Given the description of an element on the screen output the (x, y) to click on. 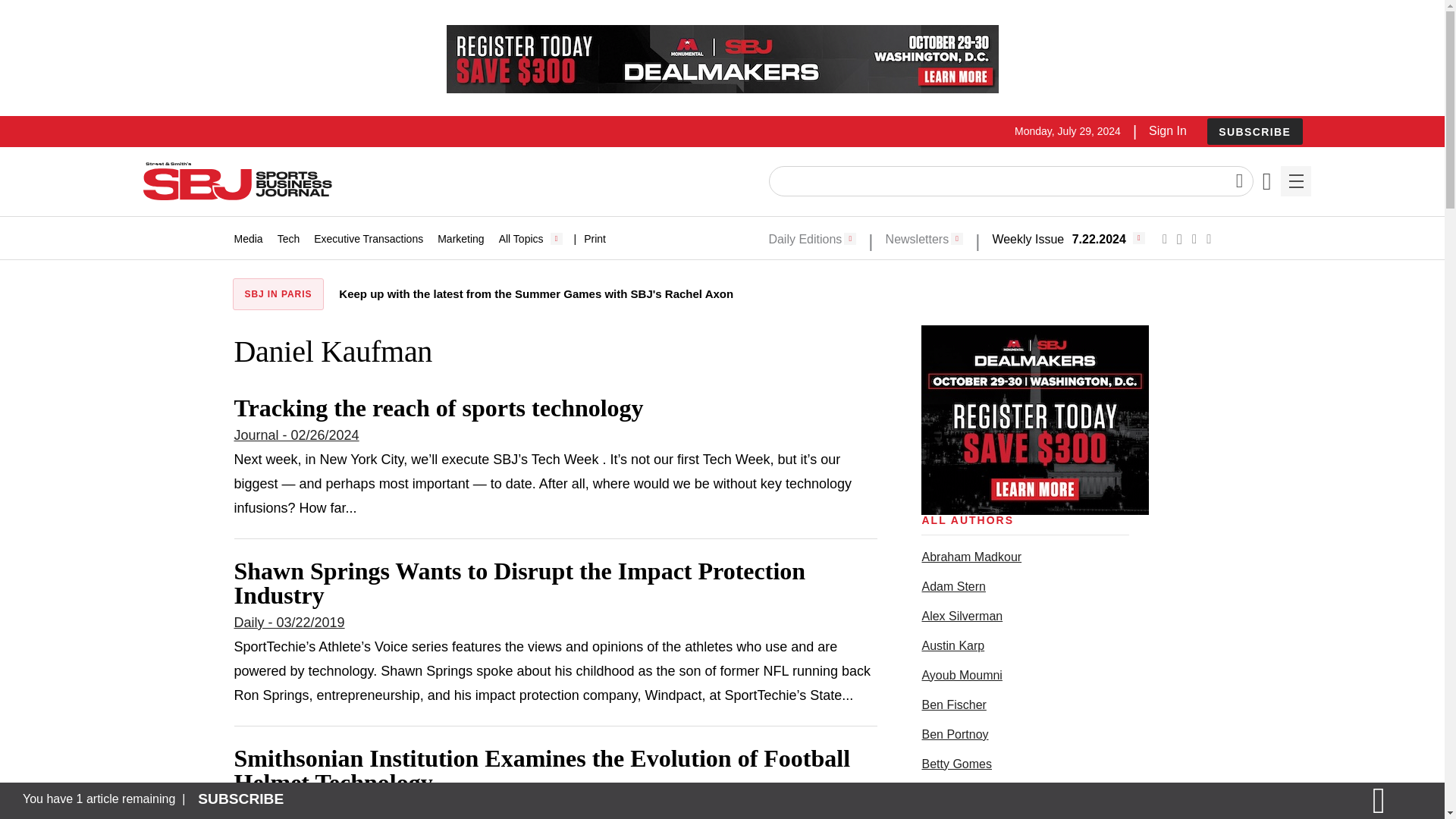
3rd party ad content (721, 59)
Sign In (1167, 131)
SUBSCRIBE (1254, 131)
SIGN IN (1194, 415)
Menu (1294, 181)
3rd party ad content (1034, 420)
SUBSCRIBE (1255, 130)
